Given the description of an element on the screen output the (x, y) to click on. 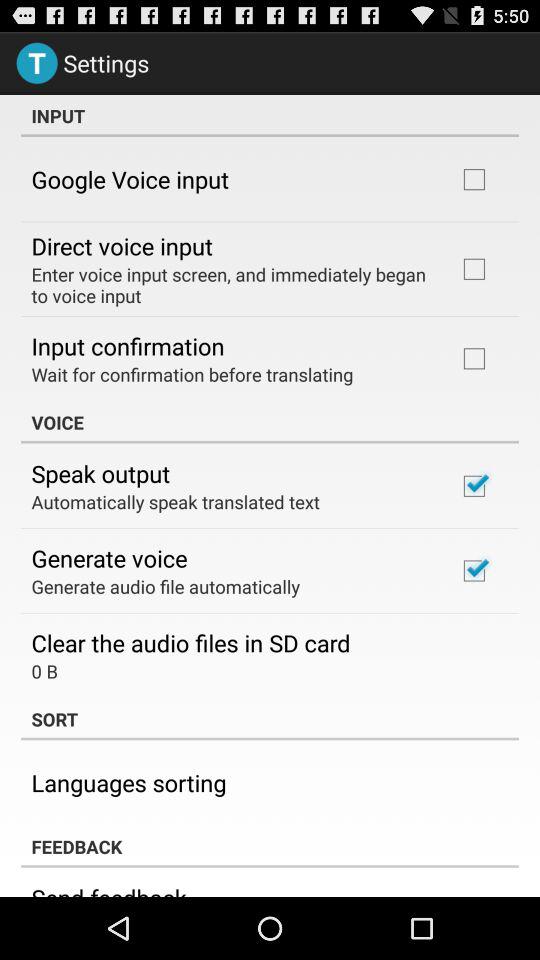
click item below voice icon (100, 473)
